Given the description of an element on the screen output the (x, y) to click on. 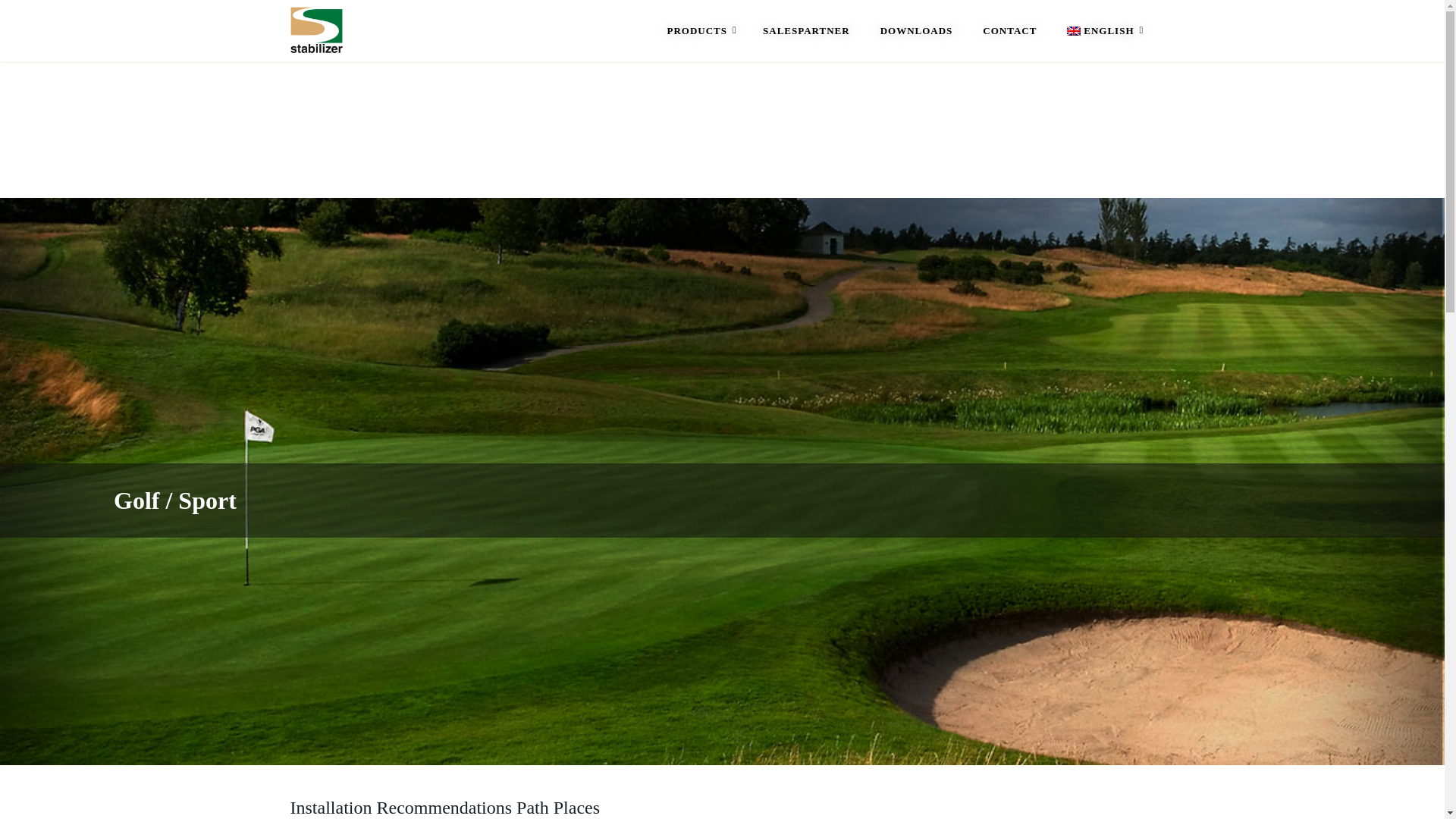
PRODUCTS (700, 30)
DOWNLOADS (916, 30)
CONTACT (1009, 30)
SALESPARTNER (806, 30)
English (1102, 30)
Stabilizer 2000 (315, 28)
ENGLISH (1102, 30)
